Given the description of an element on the screen output the (x, y) to click on. 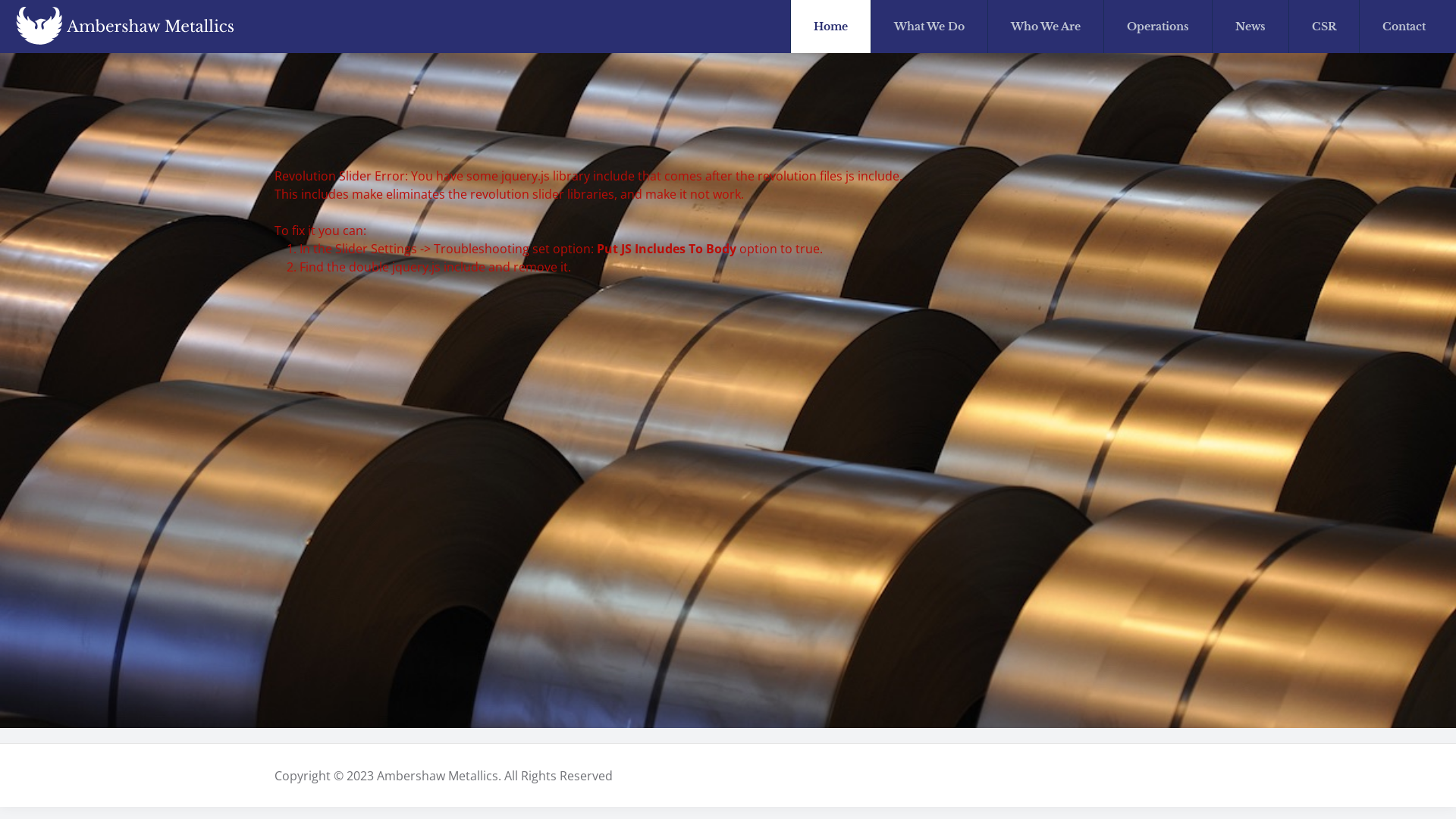
News Element type: text (1250, 26)
Contact Element type: text (1403, 26)
CSR Element type: text (1324, 26)
Ambershaw Metallics Element type: hover (125, 26)
Twitter Element type: hover (1158, 775)
Home Element type: text (830, 26)
Operations Element type: text (1158, 26)
Facebook Element type: hover (1137, 775)
Who We Are Element type: text (1046, 26)
What We Do Element type: text (929, 26)
